Given the description of an element on the screen output the (x, y) to click on. 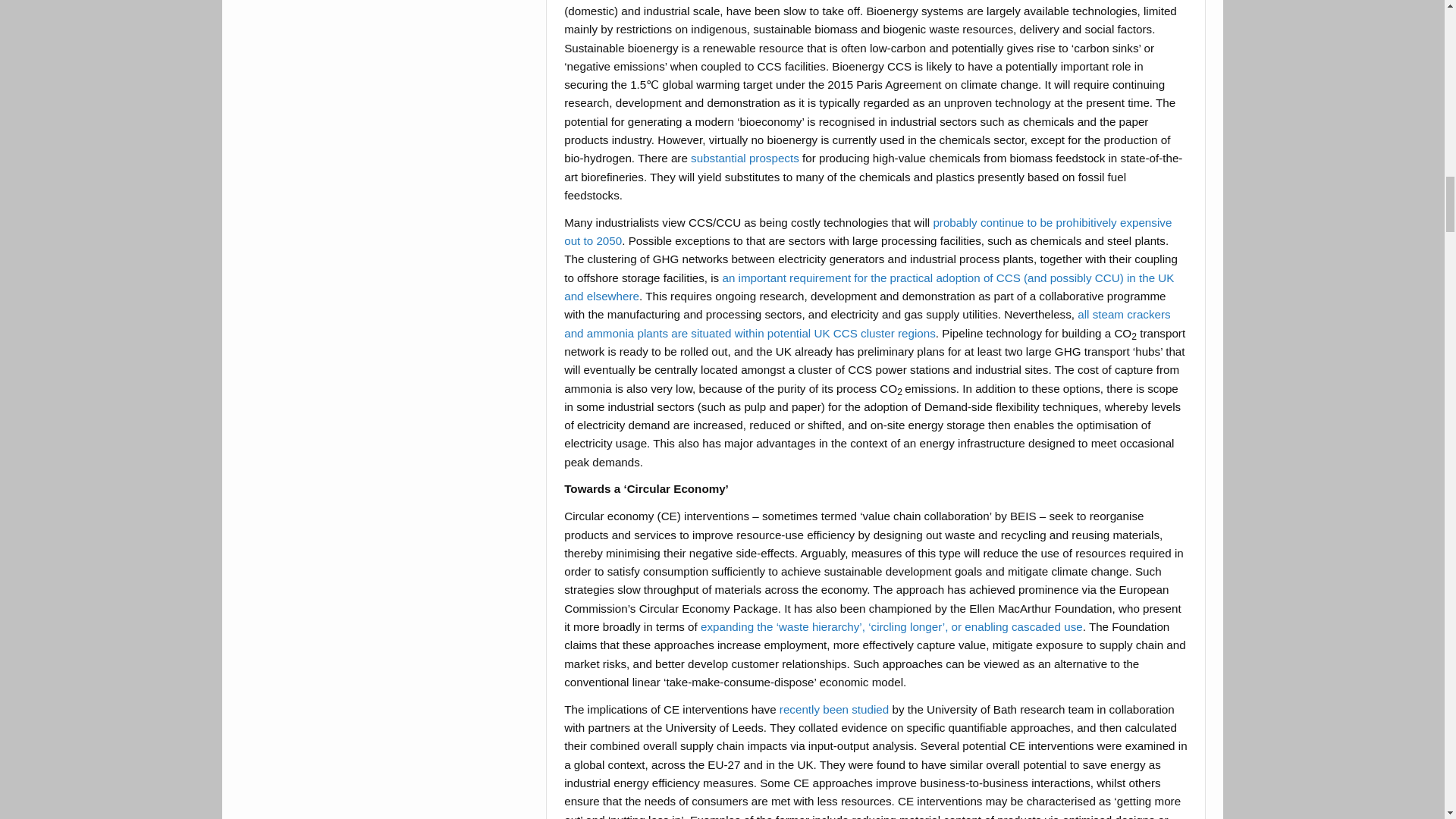
substantial prospects (744, 157)
recently been studied (833, 708)
probably continue to be prohibitively expensive out to 2050 (868, 231)
